Given the description of an element on the screen output the (x, y) to click on. 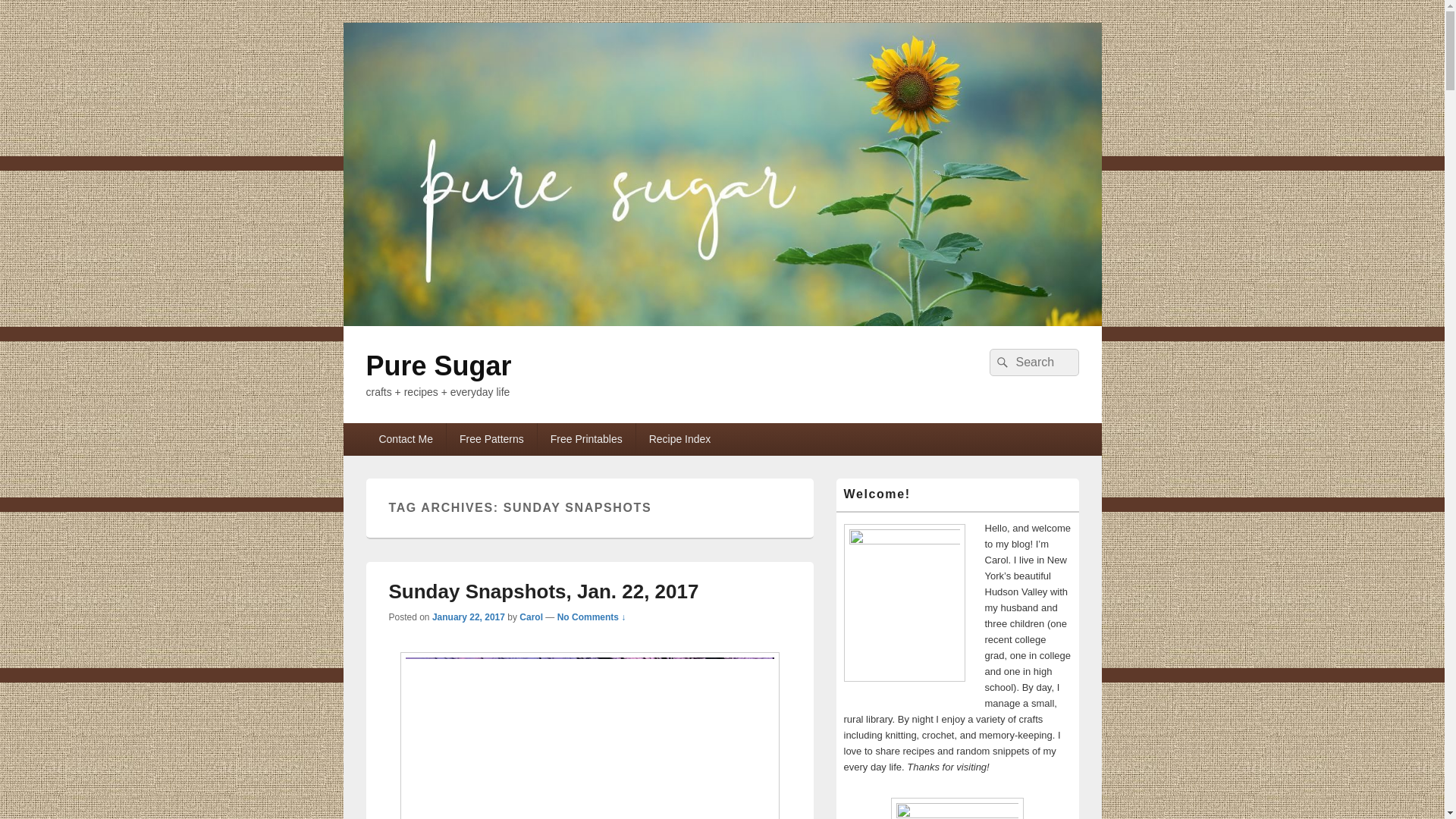
Sunday Snapshots, Jan. 22, 2017 (543, 590)
Carol (531, 616)
Pure Sugar (721, 321)
6:41 pm (468, 616)
Free Patterns (491, 439)
Search for: (1033, 361)
January 22, 2017 (468, 616)
View all posts by Carol (531, 616)
Recipe Index (679, 439)
Contact Me (405, 439)
Free Printables (585, 439)
Permalink to Sunday Snapshots, Jan. 22, 2017 (543, 590)
Pure Sugar (438, 365)
